Given the description of an element on the screen output the (x, y) to click on. 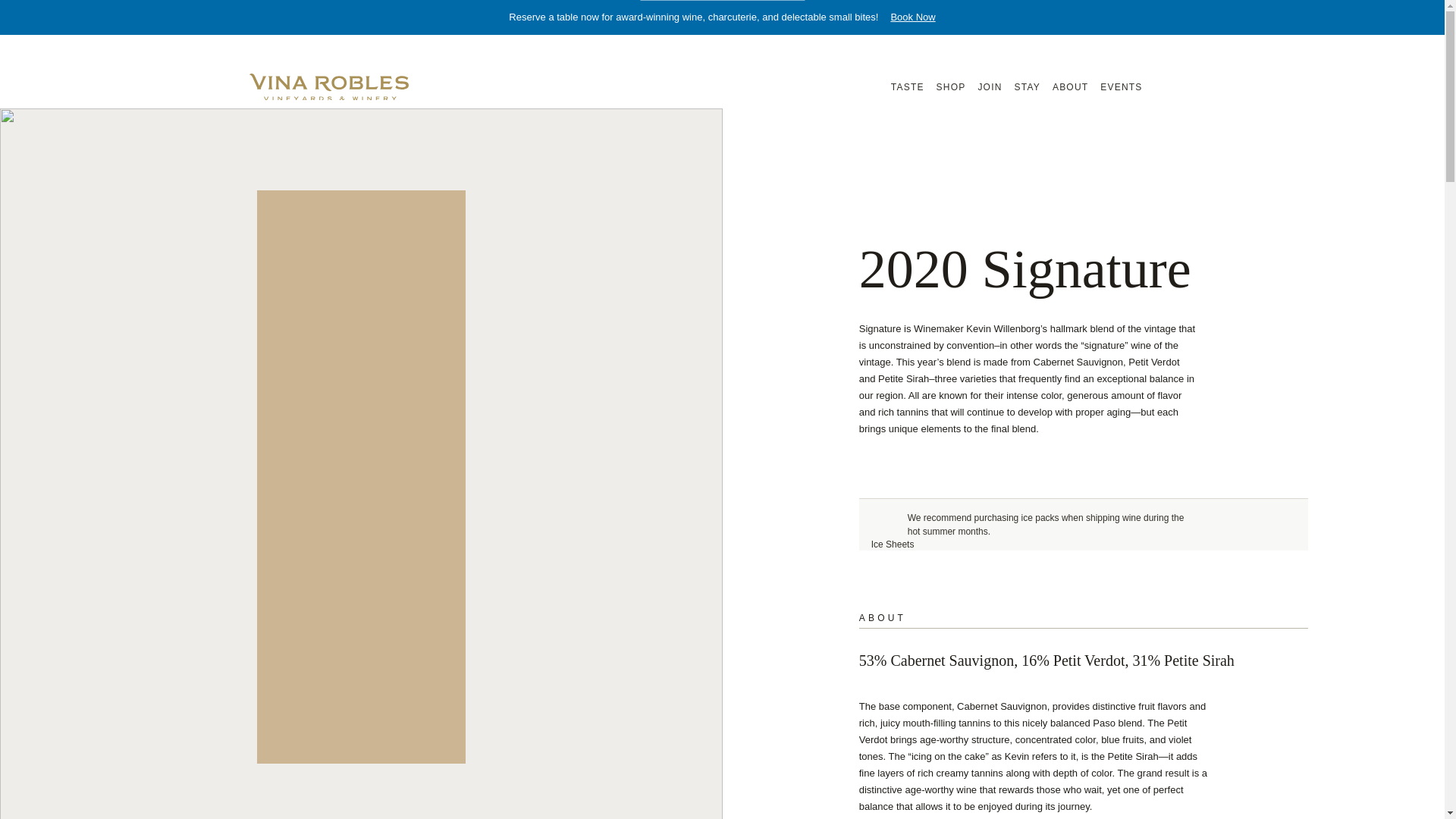
Book Now (911, 17)
